Given the description of an element on the screen output the (x, y) to click on. 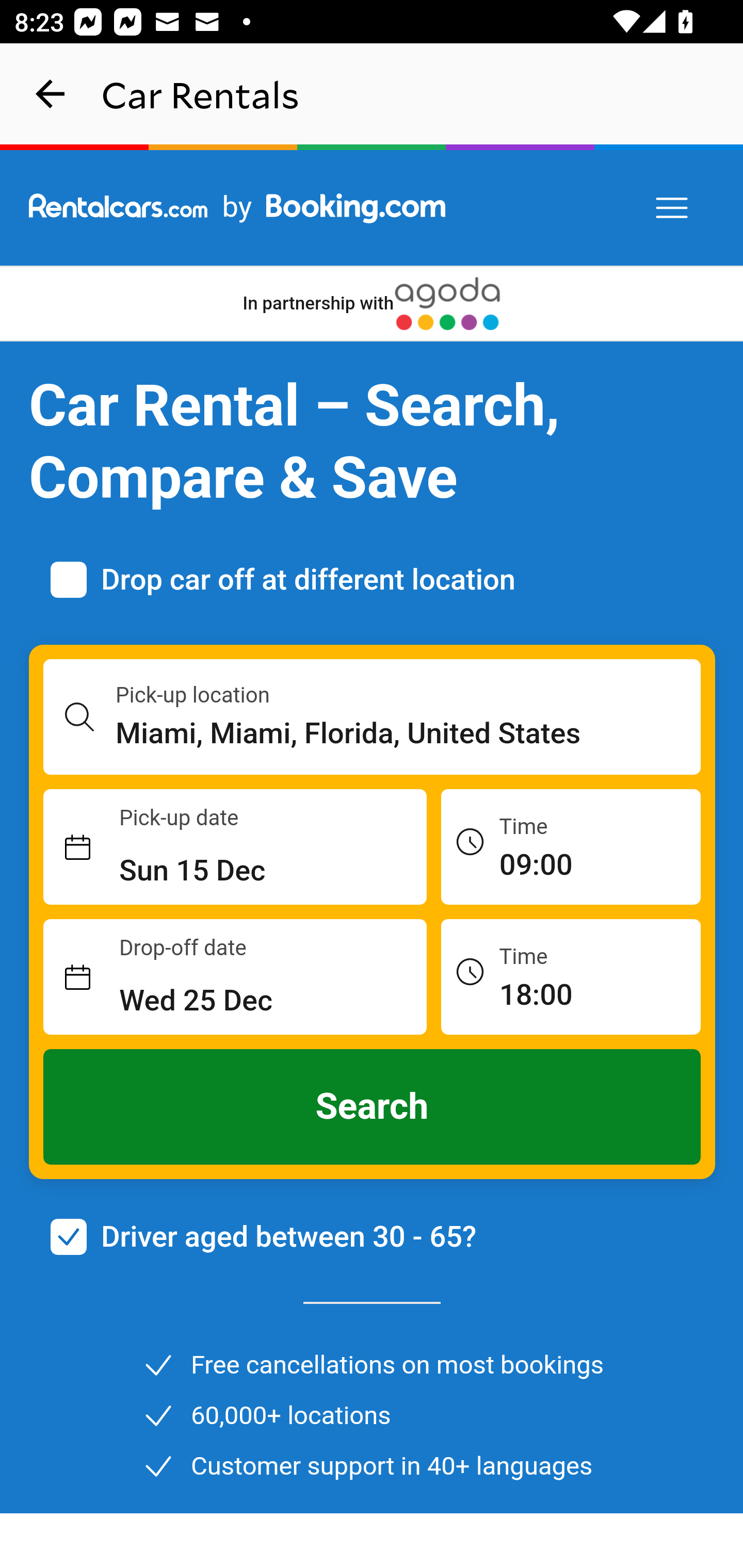
navigation_button (50, 93)
